Given the description of an element on the screen output the (x, y) to click on. 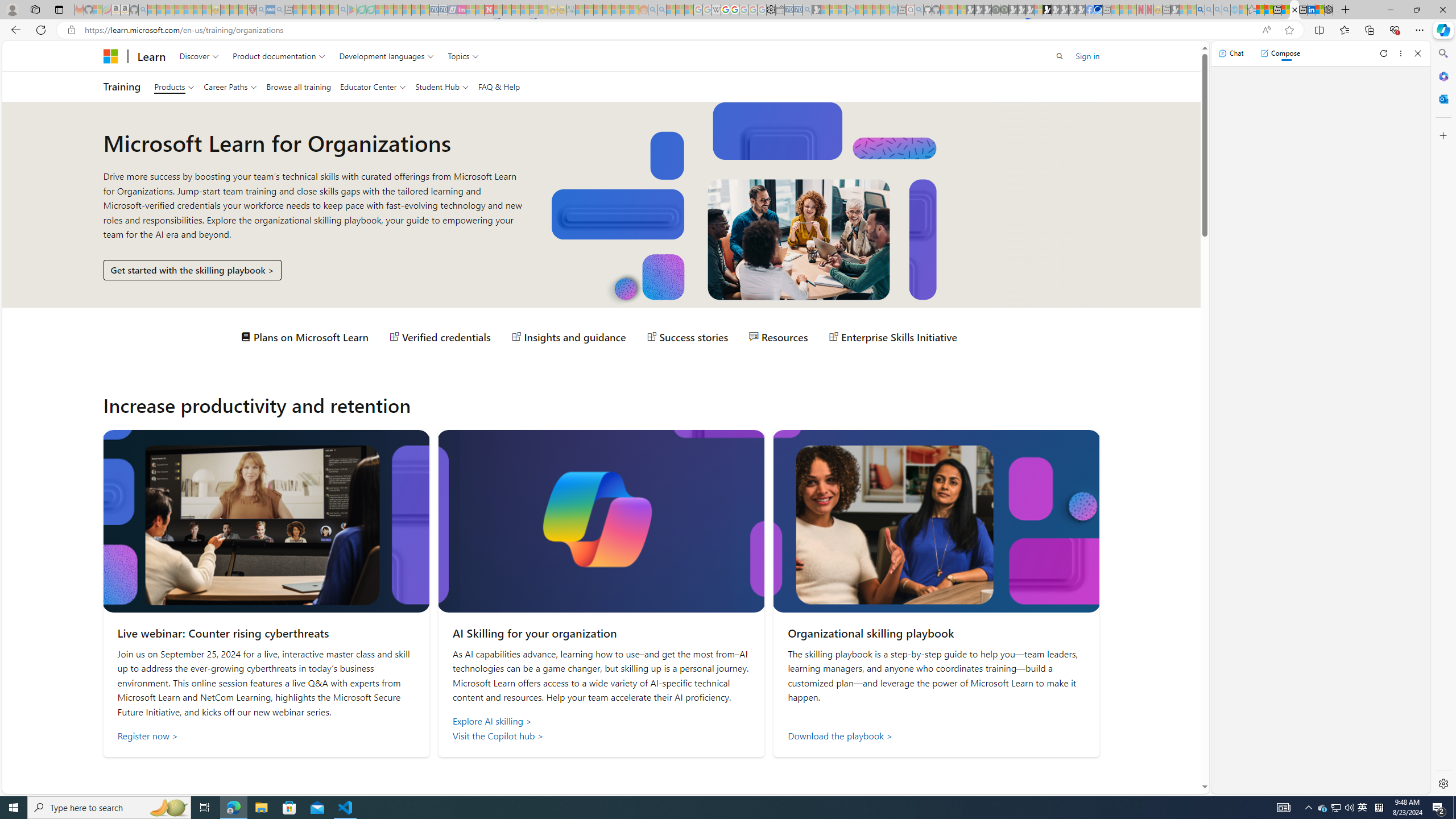
Training (122, 86)
14 Common Myths Debunked By Scientific Facts - Sleeping (506, 9)
Privacy Help Center - Policies Help (725, 9)
Products (174, 86)
Resources (778, 336)
Bing Real Estate - Home sales and rental listings - Sleeping (806, 9)
Browse all training (298, 86)
Wallet - Sleeping (779, 9)
Utah sues federal government - Search - Sleeping (661, 9)
Latest Politics News & Archive | Newsweek.com - Sleeping (488, 9)
